Given the description of an element on the screen output the (x, y) to click on. 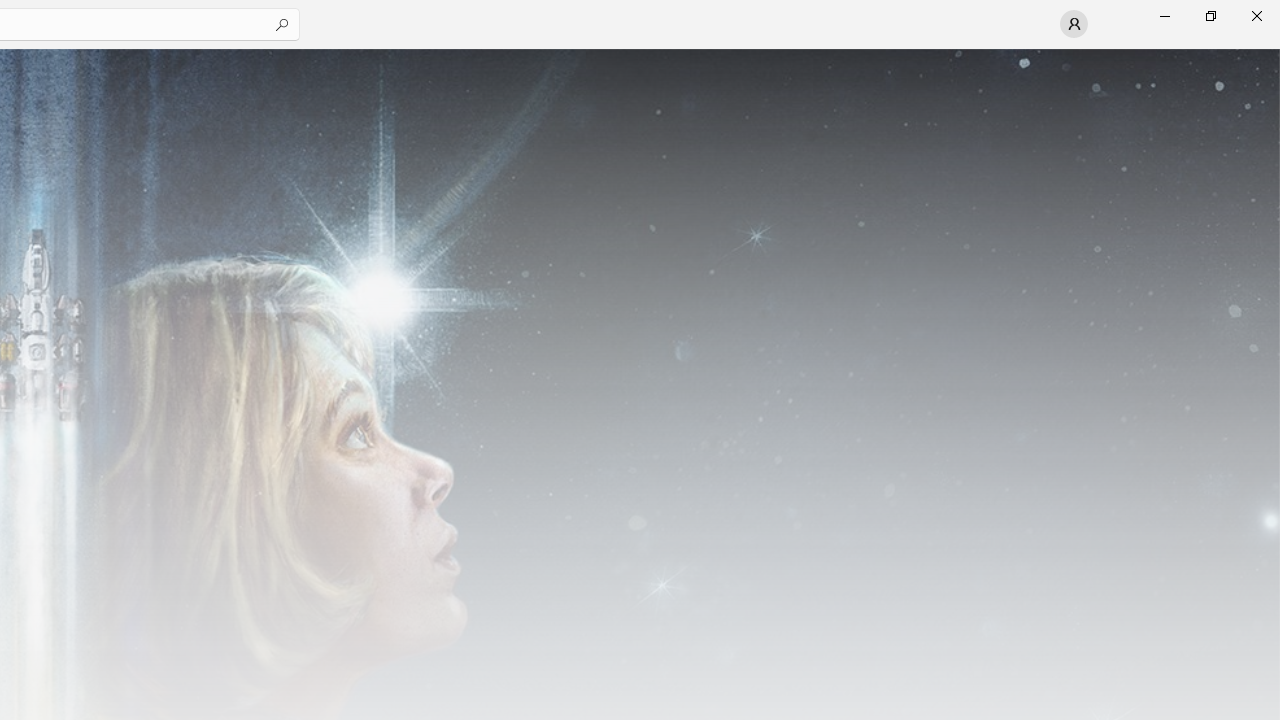
Close Microsoft Store (1256, 15)
Restore Microsoft Store (1210, 15)
Minimize Microsoft Store (1164, 15)
User profile (1073, 24)
